Given the description of an element on the screen output the (x, y) to click on. 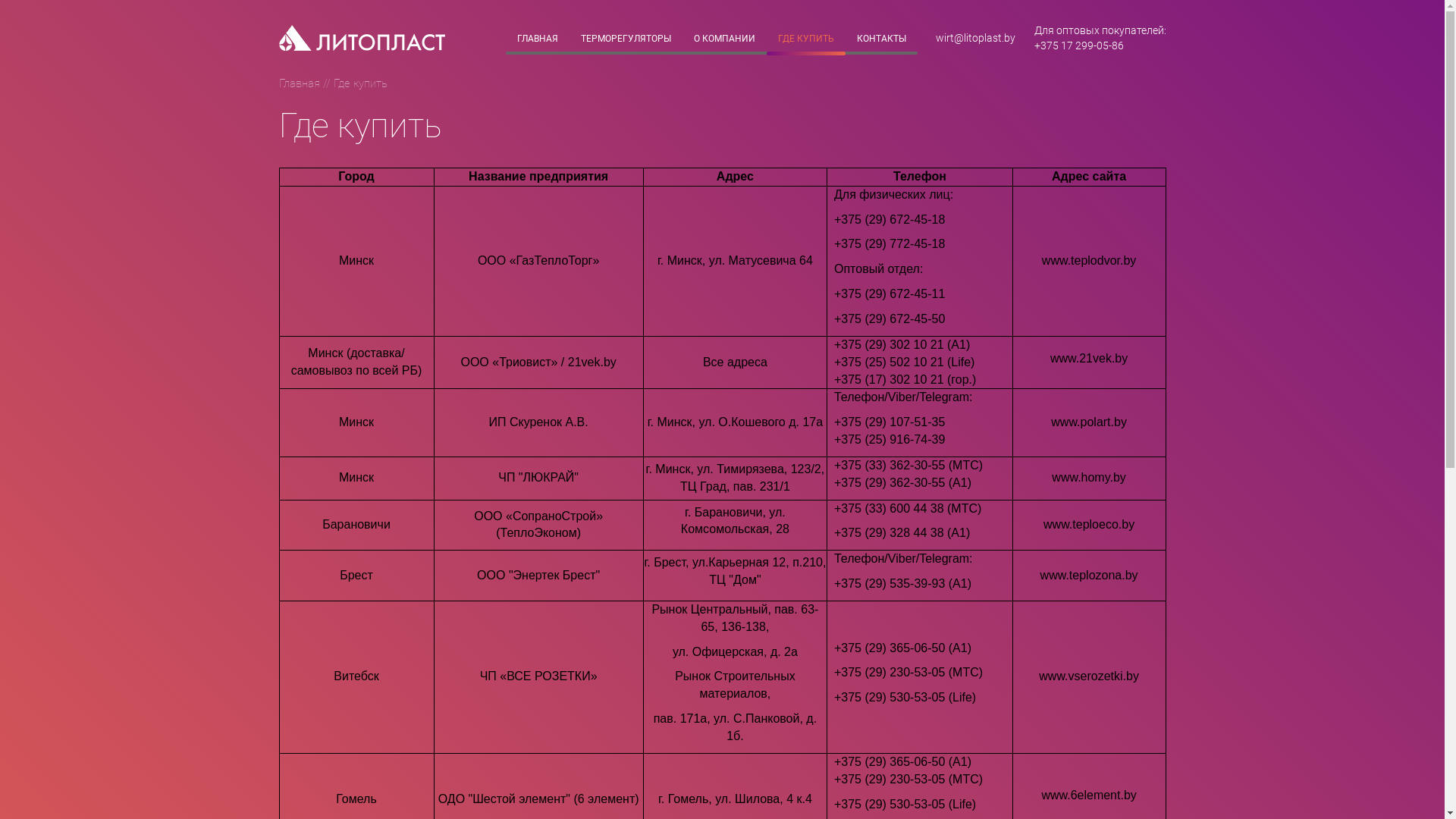
www.6element.by Element type: text (1088, 794)
www.polart.by Element type: text (1088, 421)
www.vserozetki.by Element type: text (1088, 675)
www.teplozona.by Element type: text (1089, 574)
www.21vek.by Element type: text (1088, 357)
www.teplodvor.by Element type: text (1088, 260)
wirt@litoplast.by Element type: text (975, 37)
www.teploeco.by Element type: text (1088, 523)
www.homy.by Element type: text (1088, 476)
